Given the description of an element on the screen output the (x, y) to click on. 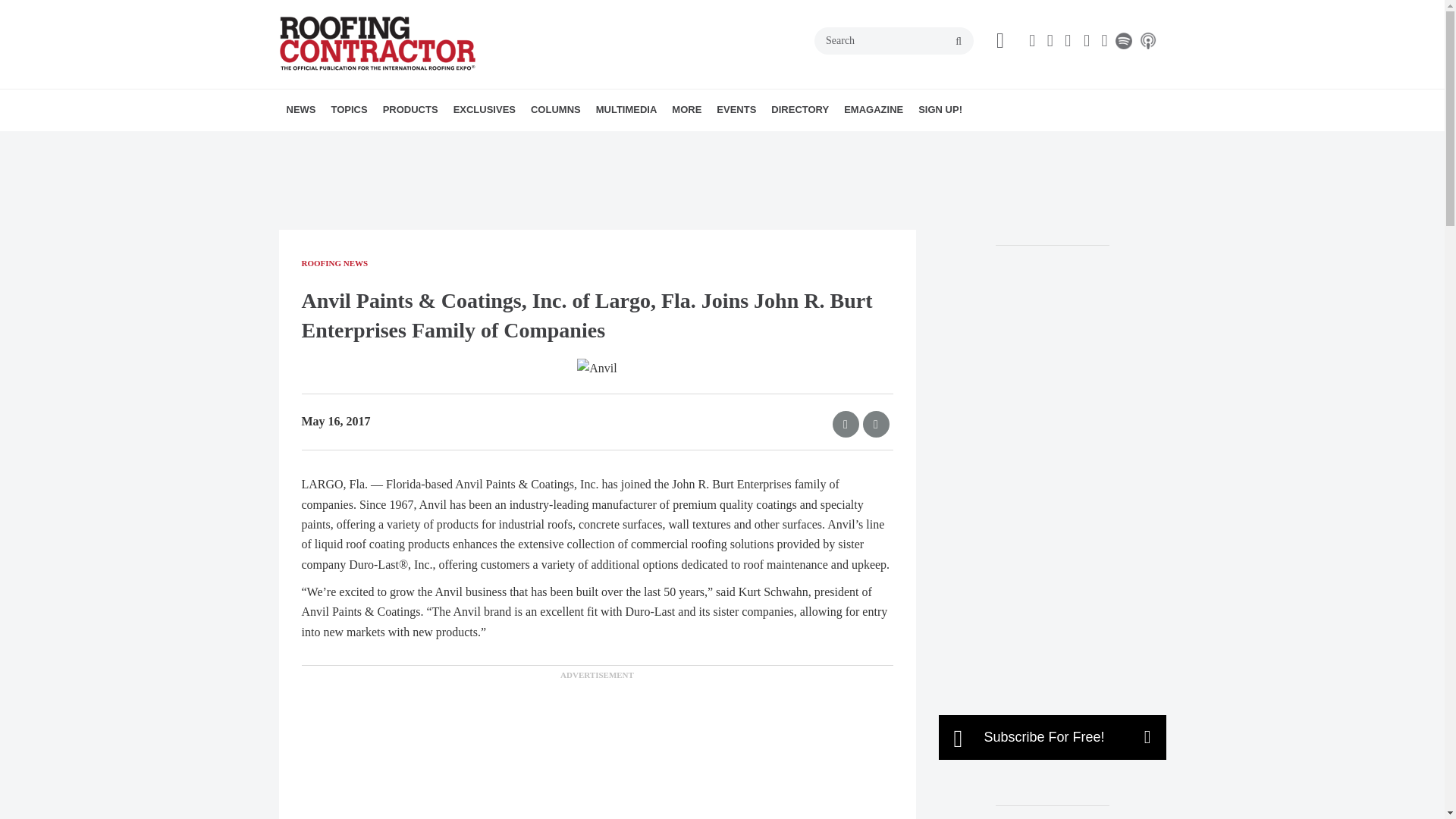
STEEP SLOPE (455, 143)
CONTRACTOR PROFILE (547, 143)
NEW PRODUCTS (469, 143)
youtube (1088, 40)
ROOFING CONTRACTOR OF THE YEAR (558, 152)
TECHNOLOGY (461, 143)
BEST OF SUCCESS (539, 143)
NEWS (301, 109)
PRODUCTS (410, 109)
cart (999, 40)
EXCLUSIVES (483, 109)
TOPICS (348, 109)
METAL (442, 143)
COOL ROOFING (417, 143)
facebook (1034, 40)
